Given the description of an element on the screen output the (x, y) to click on. 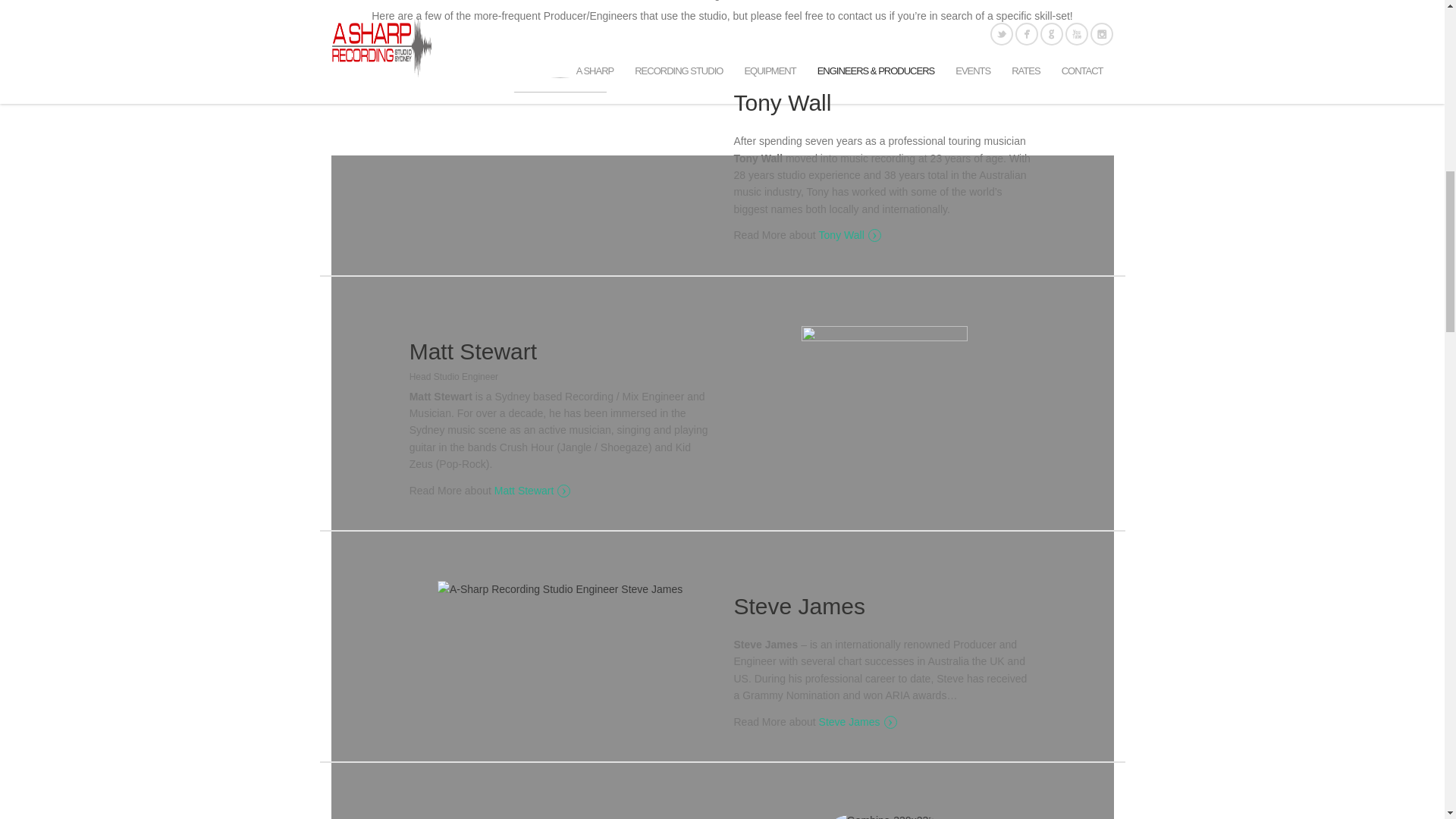
A Sharp Associated Producers - Tony Wall (560, 157)
a-sharp-recording-studio-engineer-matt-stewart (885, 408)
Gambino-330x233 (884, 815)
Tony Wall (849, 234)
A-Sharp Recording Studio Engineer Steve James (560, 588)
Steve James (857, 721)
Matt Stewart (532, 489)
